Given the description of an element on the screen output the (x, y) to click on. 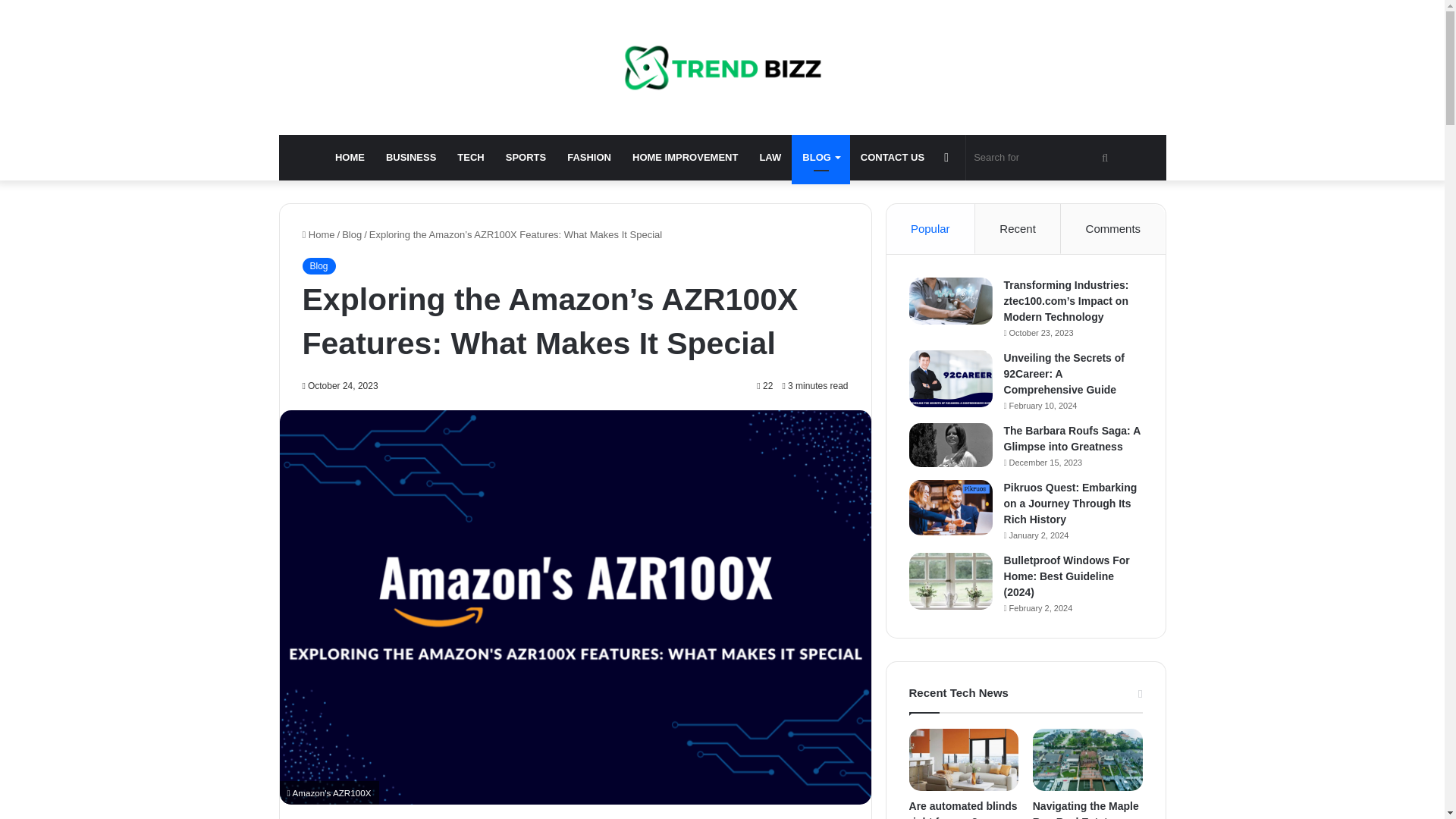
Search for (1042, 157)
Home (317, 234)
CONTACT US (892, 157)
HOME IMPROVEMENT (684, 157)
FASHION (588, 157)
SPORTS (525, 157)
Blog (351, 234)
BUSINESS (410, 157)
TECH (470, 157)
LAW (770, 157)
